Given the description of an element on the screen output the (x, y) to click on. 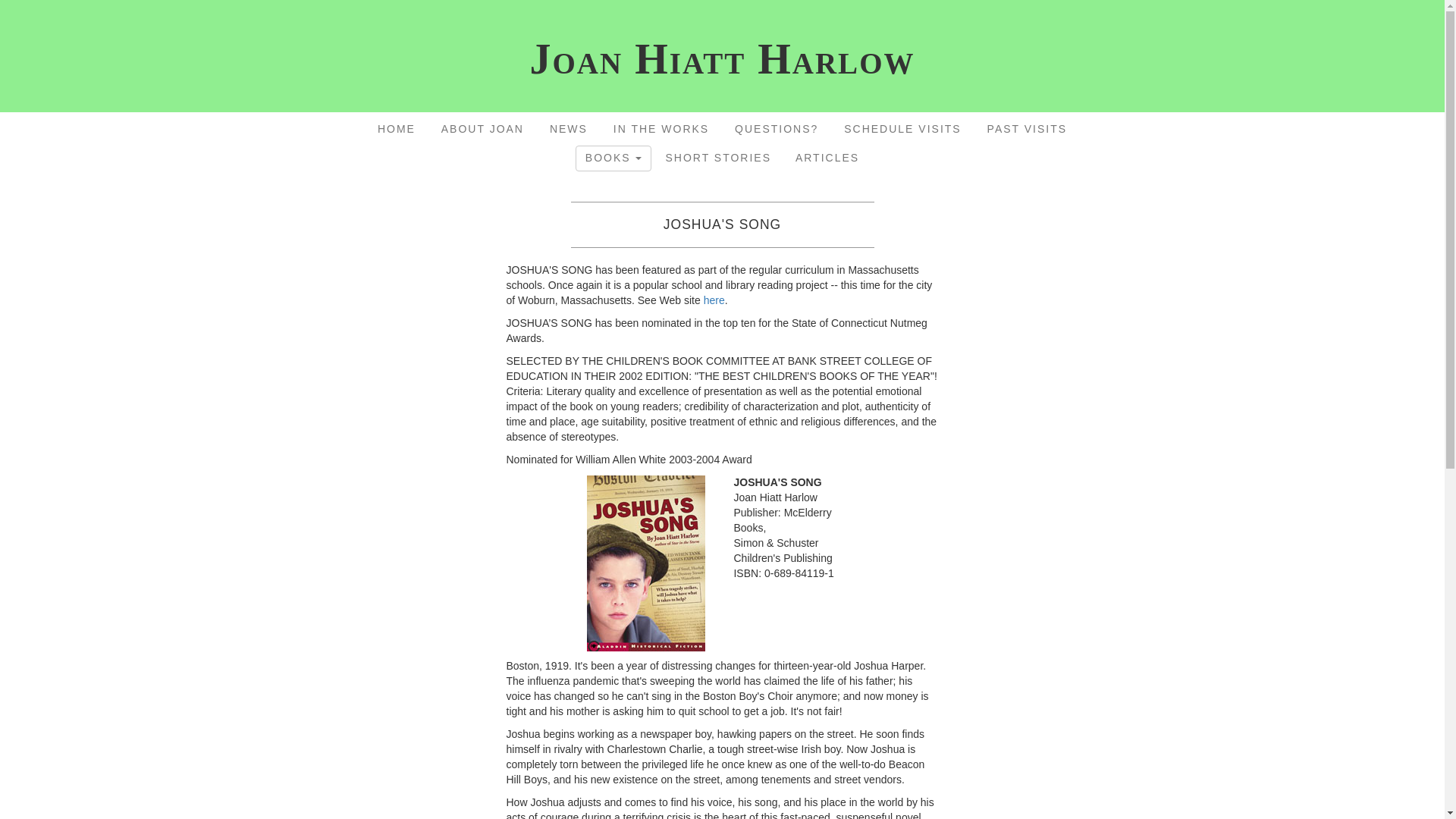
ARTICLES (827, 158)
ARTICLES (826, 157)
HOME (396, 128)
BOOKS (612, 158)
IN THE WORKS (660, 128)
QUESTIONS? (775, 128)
ABOUT JOAN (482, 128)
SHORT STORIES (718, 157)
here (714, 300)
NEWS (568, 128)
PAST VISITS (1027, 128)
SCHEDULE VISITS (901, 128)
SHORT STORIES (717, 158)
